Given the description of an element on the screen output the (x, y) to click on. 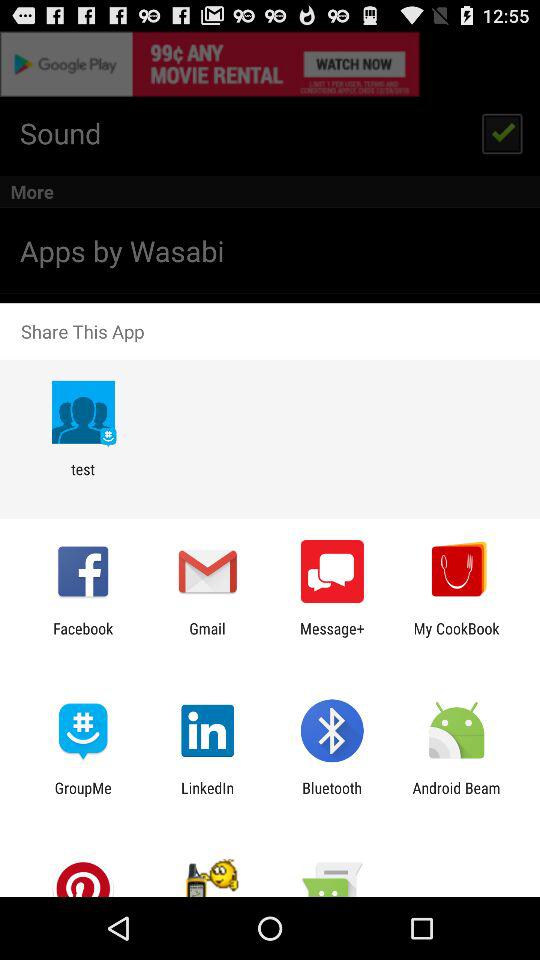
flip until the linkedin item (207, 796)
